Given the description of an element on the screen output the (x, y) to click on. 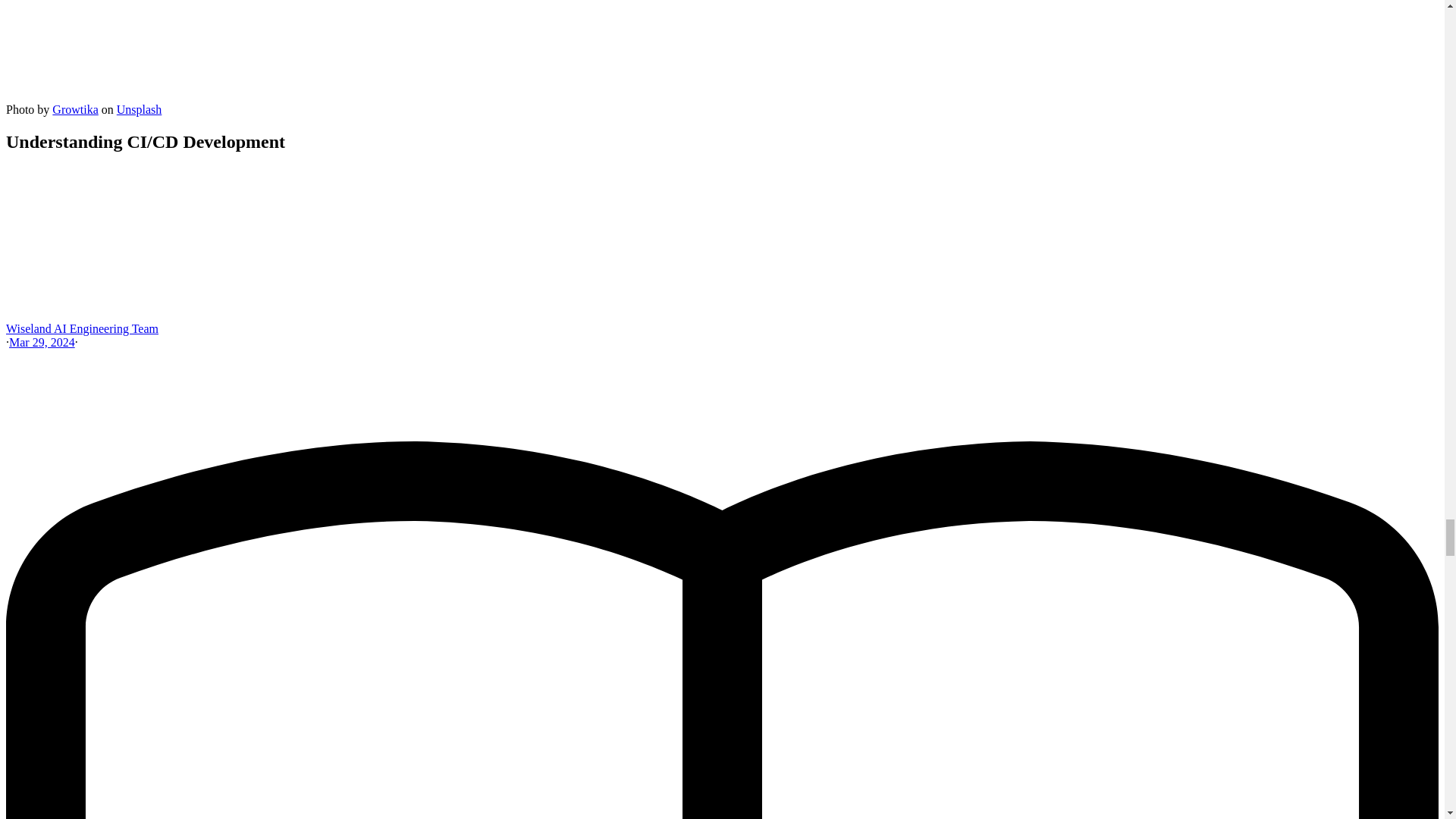
Wiseland AI Engineering Team (81, 328)
Unsplash (138, 109)
Growtika (74, 109)
Mar 29, 2024 (41, 341)
